Given the description of an element on the screen output the (x, y) to click on. 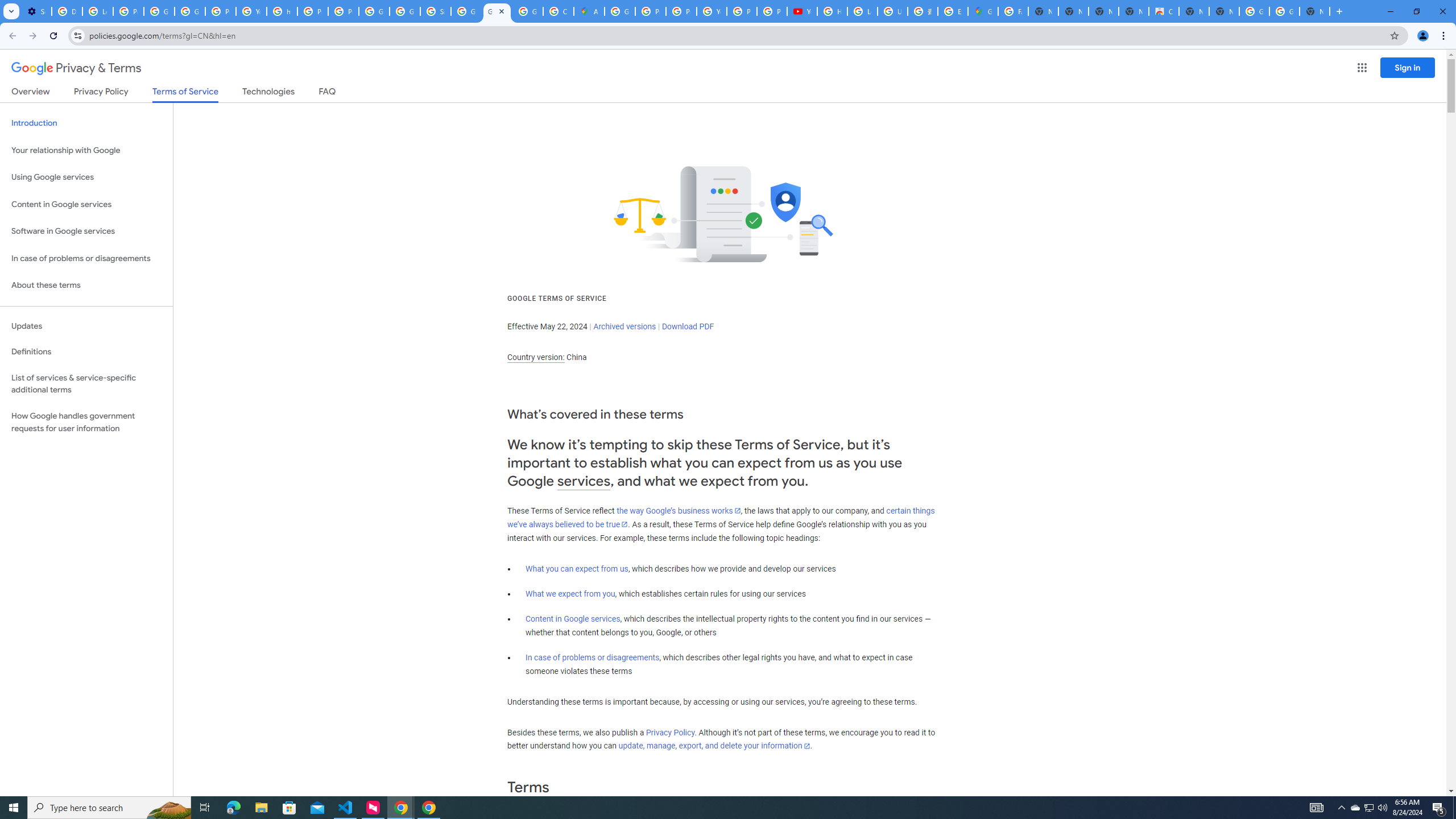
YouTube (801, 11)
Software in Google services (86, 230)
New Tab (1314, 11)
Delete photos & videos - Computer - Google Photos Help (66, 11)
Google Images (1283, 11)
What you can expect from us (576, 568)
